Given the description of an element on the screen output the (x, y) to click on. 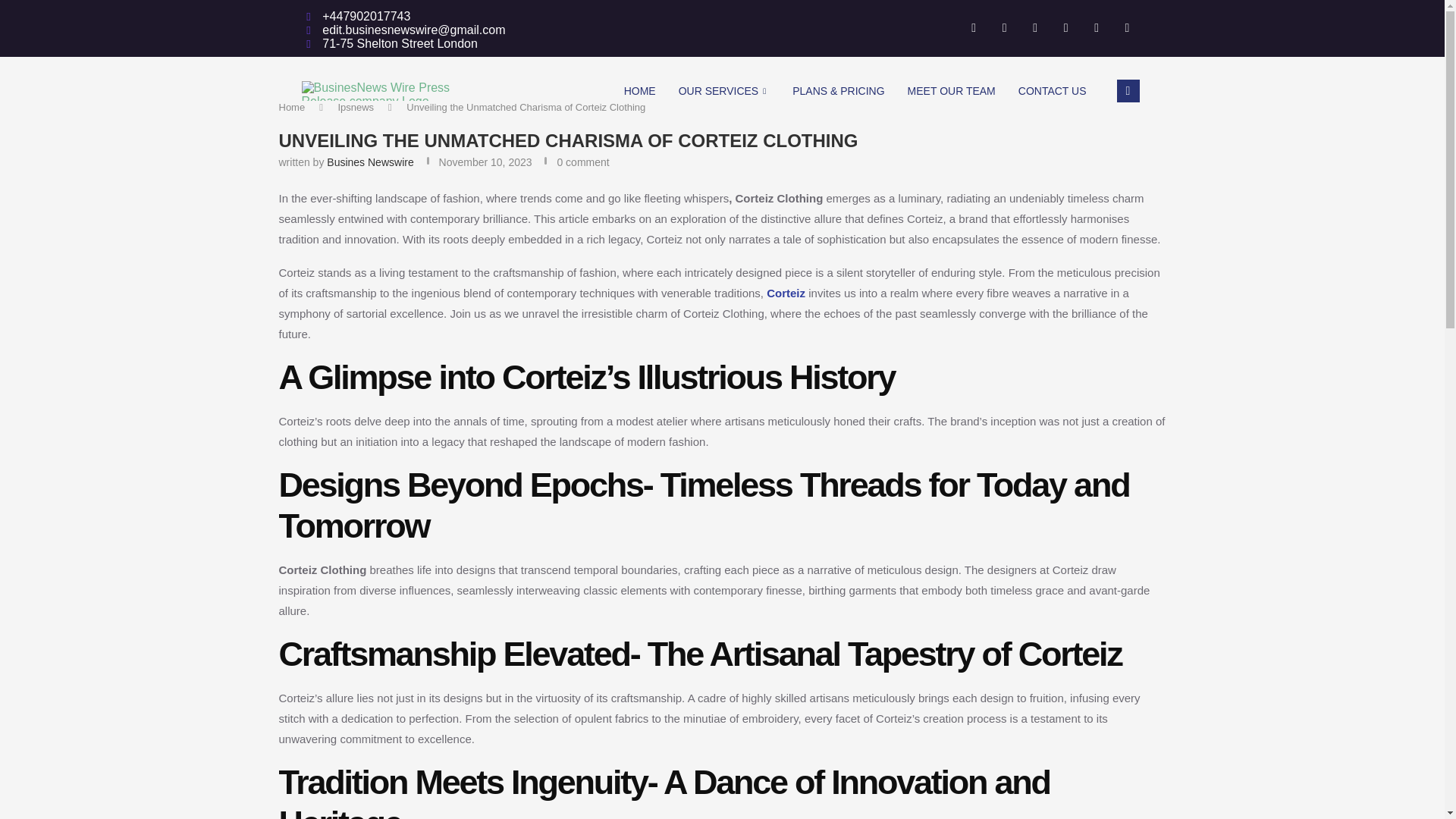
Home (292, 107)
Ipsnews (355, 107)
CONTACT US (1052, 90)
Busines Newswire (369, 162)
MEET OUR TEAM (951, 90)
HOME (639, 90)
Corteiz (786, 292)
OUR SERVICES (723, 90)
